Given the description of an element on the screen output the (x, y) to click on. 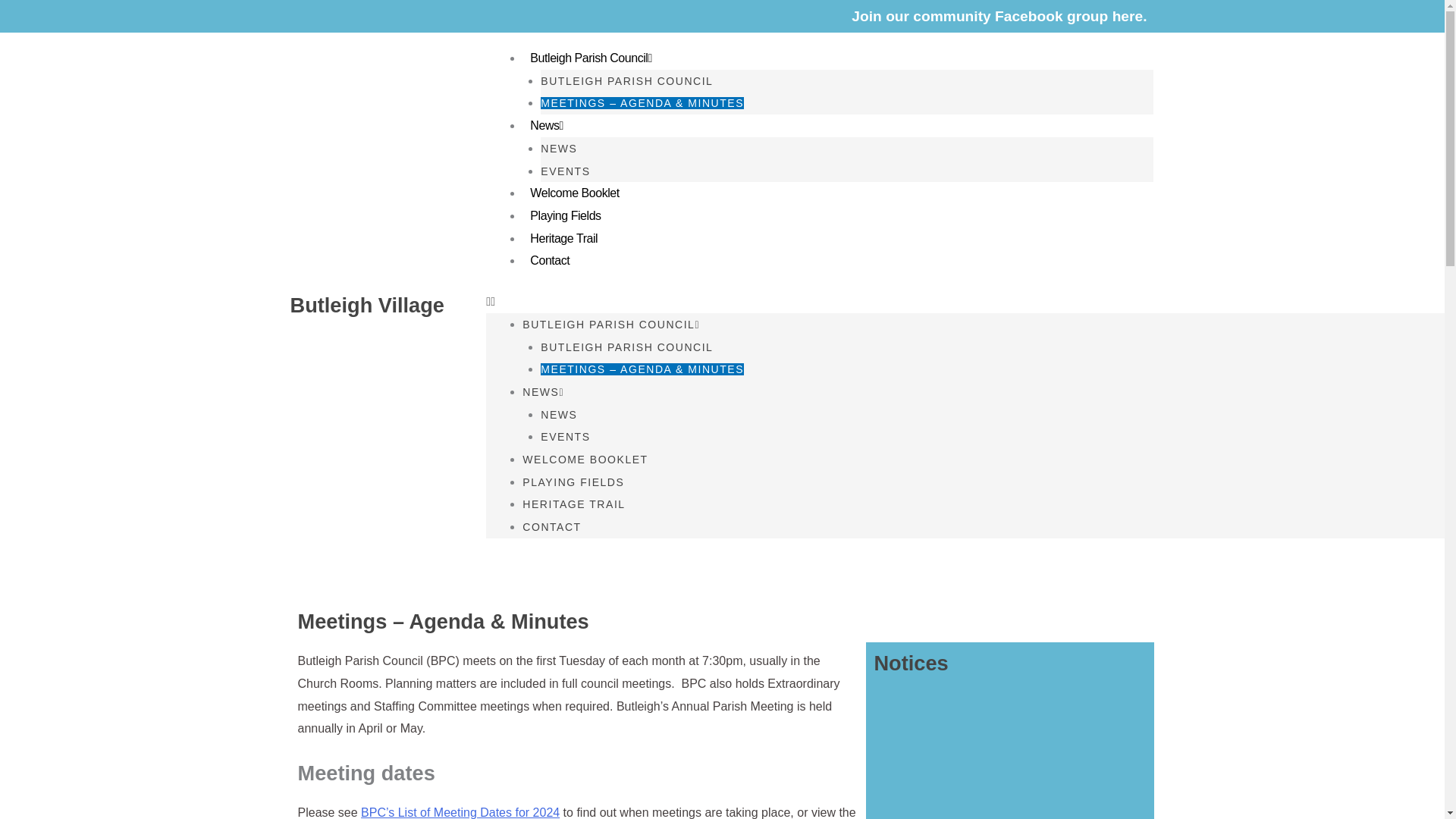
Join our community Facebook group here. (999, 16)
Contact (549, 260)
NEWS (558, 148)
BUTLEIGH PARISH COUNCIL (611, 324)
Butleigh Village (366, 304)
EVENTS (564, 436)
PLAYING FIELDS (573, 481)
WELCOME BOOKLET (584, 459)
BUTLEIGH PARISH COUNCIL (626, 346)
NEWS (543, 391)
NEWS (558, 414)
HERITAGE TRAIL (573, 503)
EVENTS (564, 171)
Welcome Booklet (574, 192)
CONTACT (551, 526)
